Given the description of an element on the screen output the (x, y) to click on. 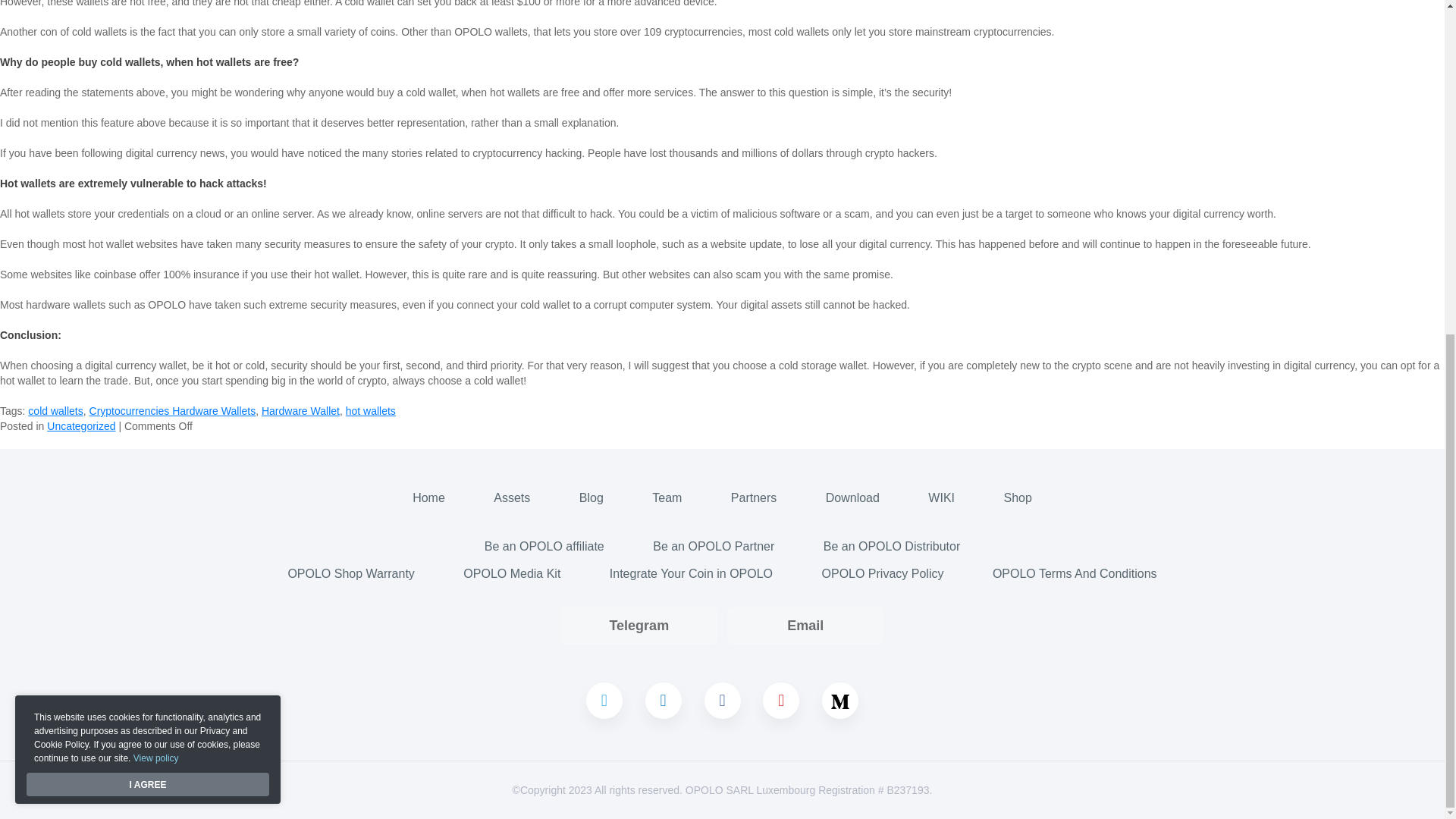
hot wallets (371, 410)
Home (428, 498)
OPOLO Shop Warranty (349, 573)
I AGREE (148, 296)
Be an OPOLO affiliate (544, 546)
cold wallets (54, 410)
Telegram (638, 625)
Cryptocurrencies Hardware Wallets (172, 410)
Be an OPOLO Partner (713, 546)
Partners (753, 498)
Uncategorized (80, 426)
View policy (156, 281)
Download (852, 498)
Email (804, 625)
Telegram (638, 624)
